Given the description of an element on the screen output the (x, y) to click on. 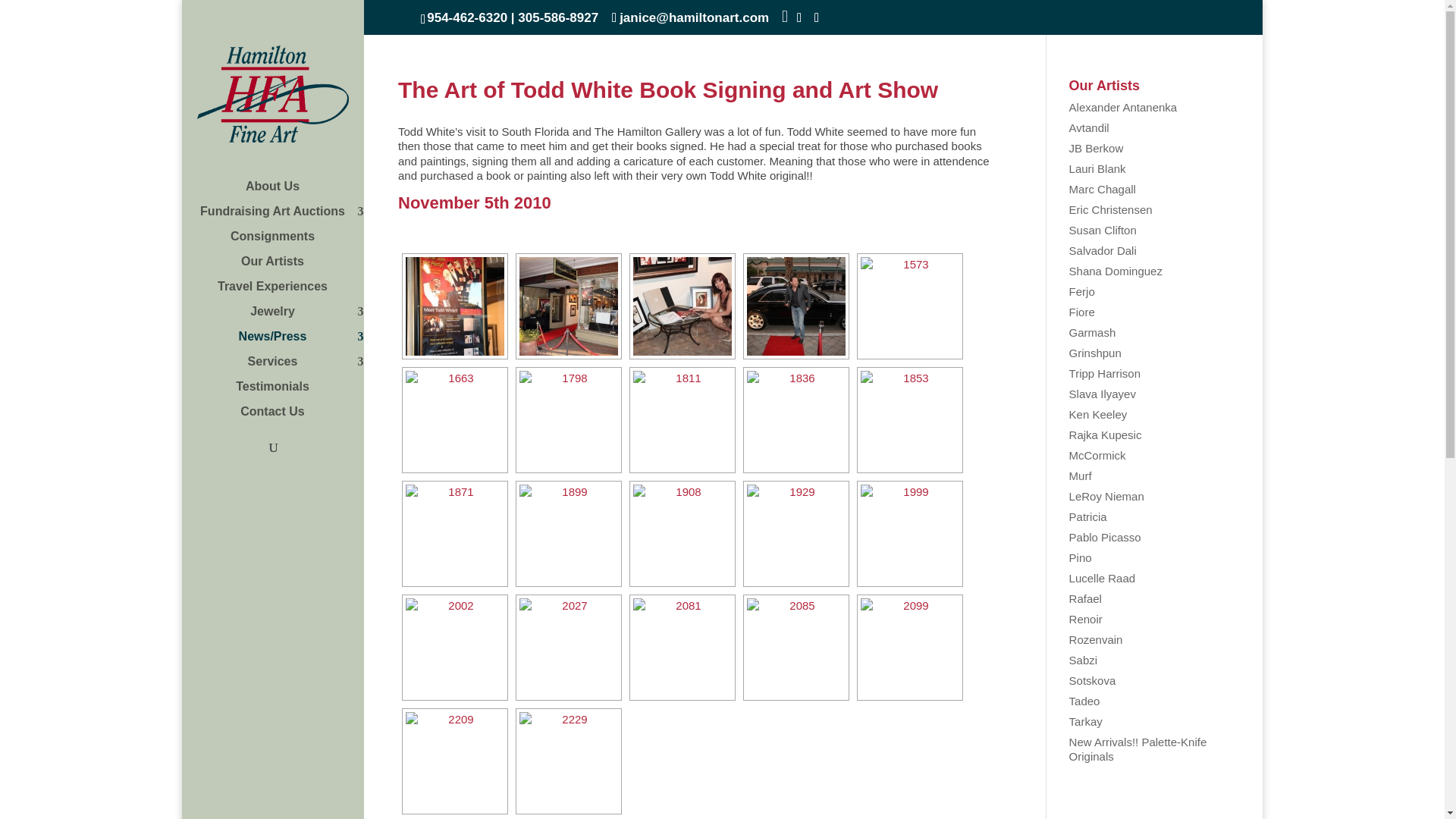
1564 (795, 305)
1663 (454, 419)
Services (287, 368)
Jewelry (287, 318)
About Us (287, 193)
1573 (909, 305)
1495 (568, 305)
Travel Experiences (287, 293)
Consignments (287, 243)
1485 (454, 305)
